Given the description of an element on the screen output the (x, y) to click on. 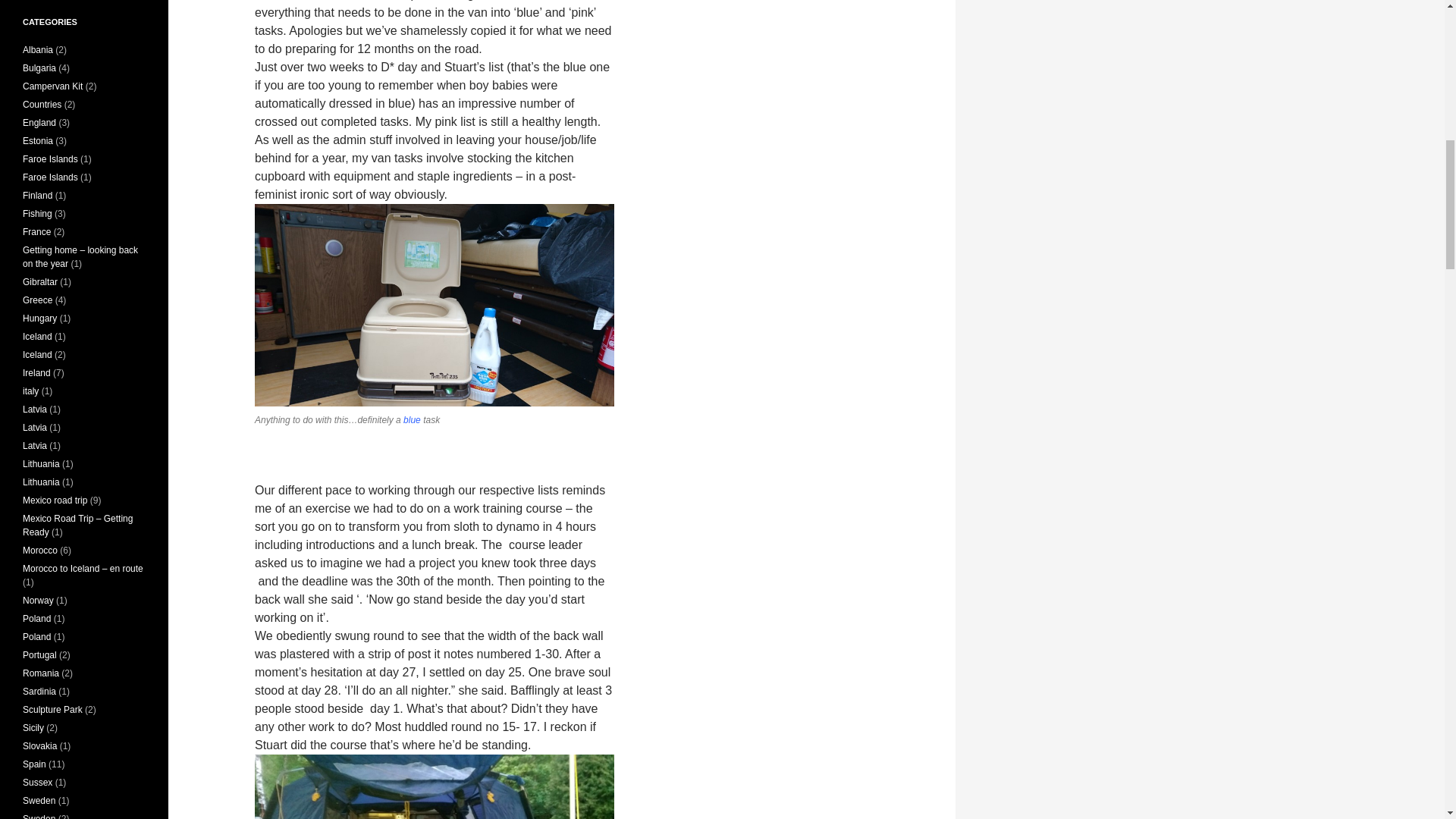
Faroe Islands (50, 158)
Albania (37, 50)
Faroe Islands (50, 176)
Campervan Kit (52, 86)
Countries (42, 104)
Estonia (37, 140)
Bulgaria (39, 68)
England (39, 122)
